Given the description of an element on the screen output the (x, y) to click on. 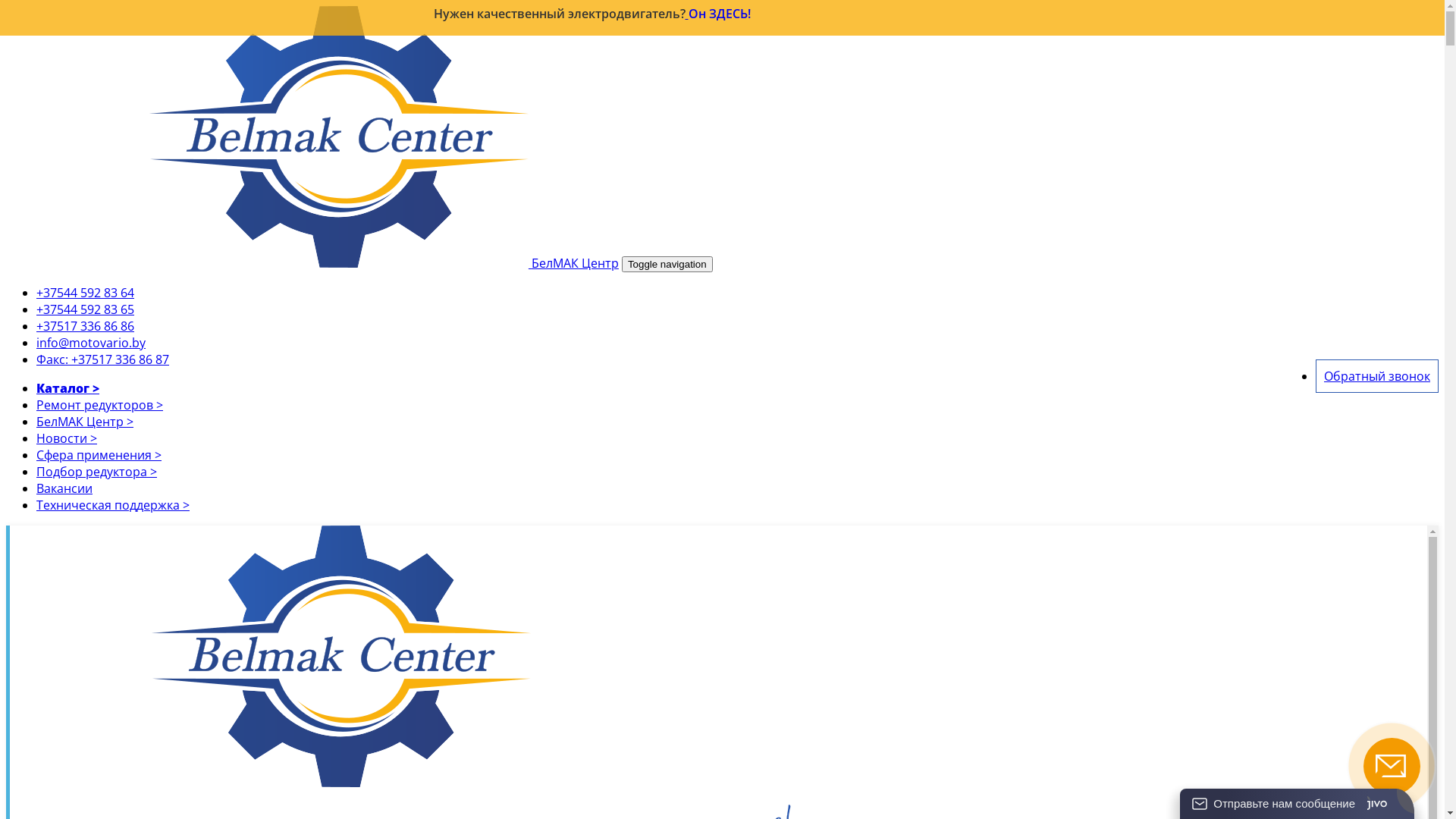
Toggle navigation Element type: text (666, 264)
+37517 336 86 86 Element type: text (85, 325)
info@motovario.by Element type: text (90, 342)
+37544 592 83 64 Element type: text (85, 292)
+37544 592 83 65 Element type: text (85, 309)
